Given the description of an element on the screen output the (x, y) to click on. 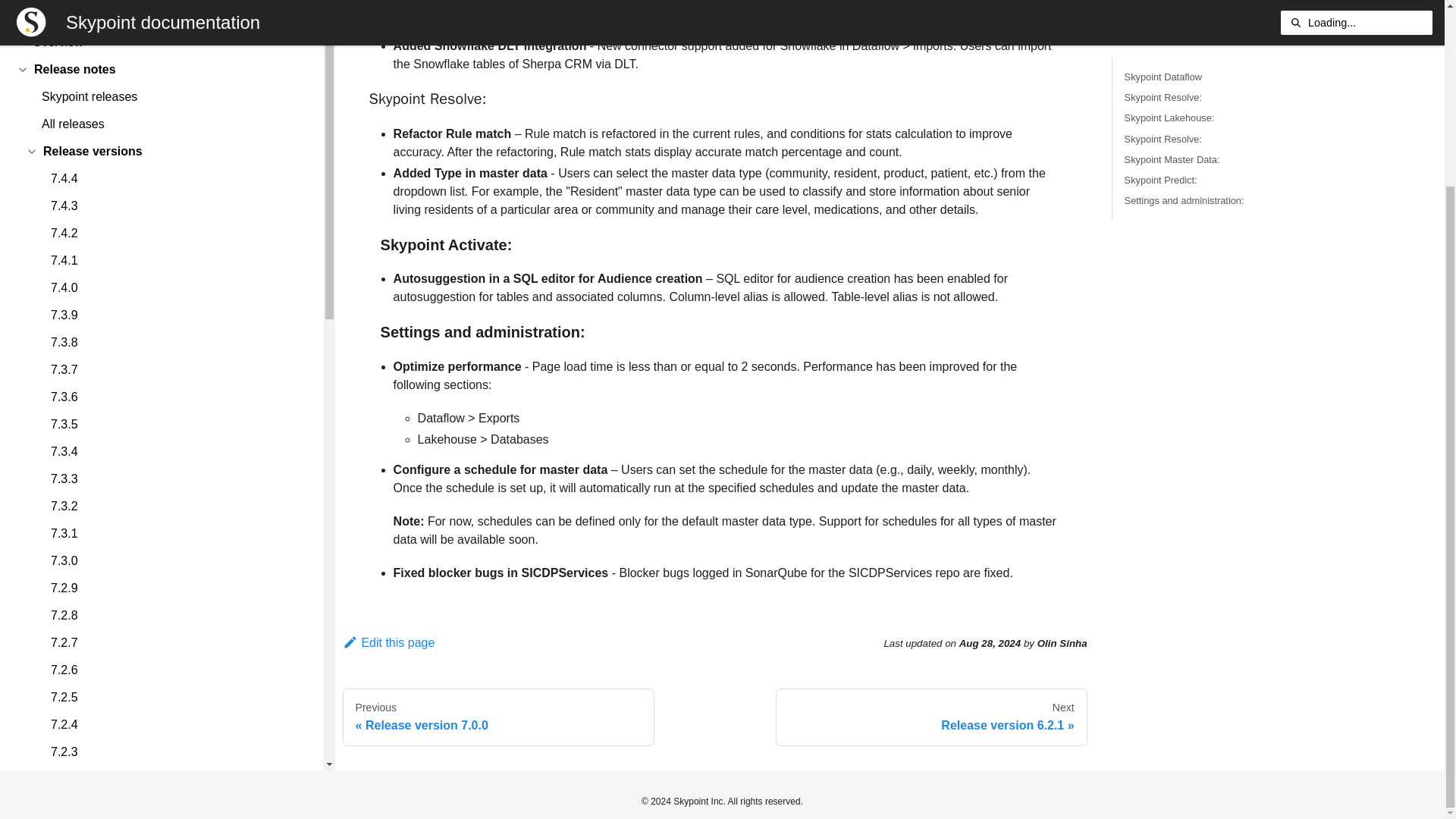
7.3.3 (173, 296)
7.2.1 (173, 623)
7.1.1 (173, 678)
7.2.7 (173, 459)
7.2.0 (173, 651)
7.3.2 (173, 323)
7.3.8 (173, 159)
7.2.6 (173, 487)
7.4.3 (173, 23)
6.3.0 (173, 760)
